Given the description of an element on the screen output the (x, y) to click on. 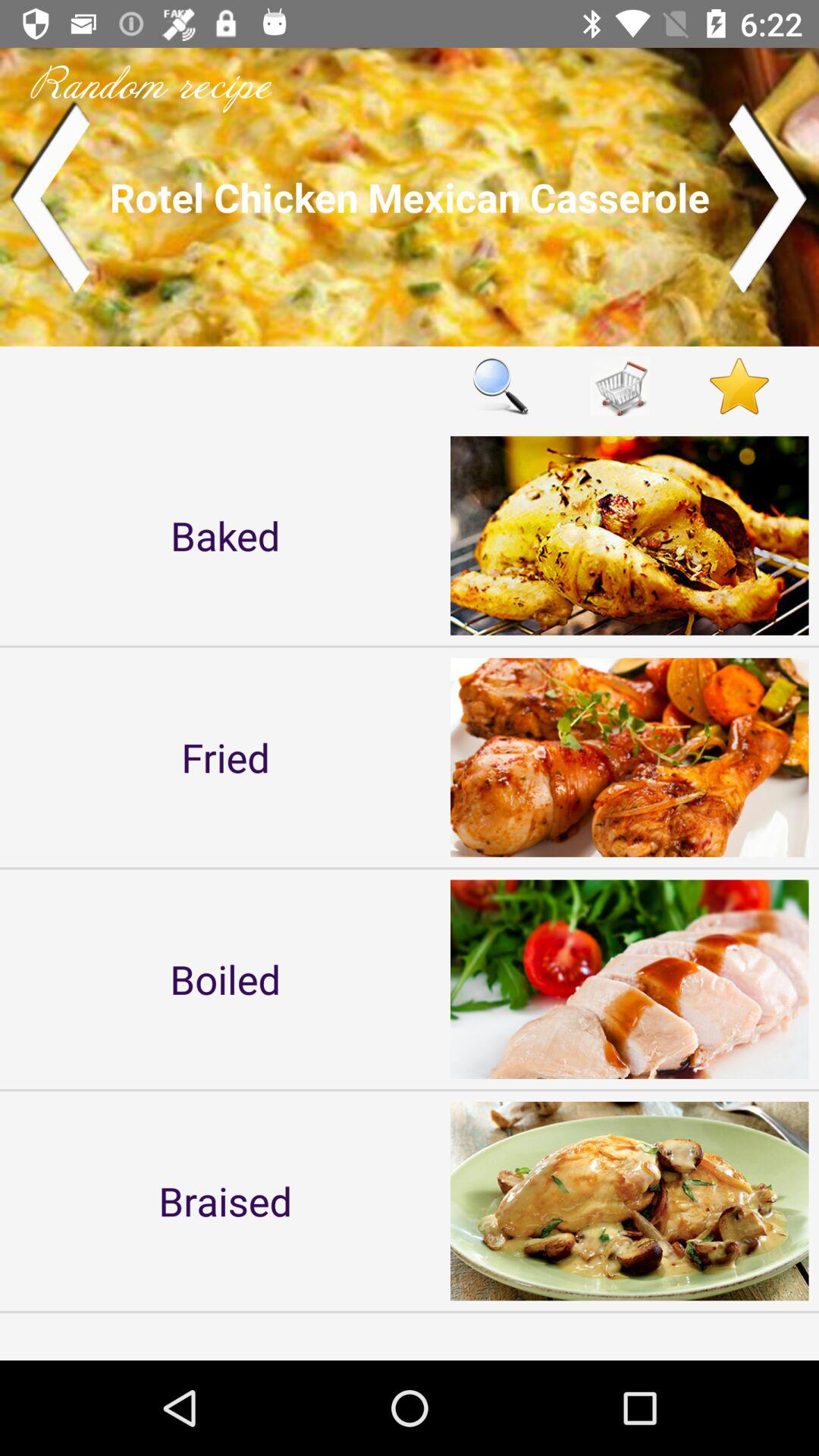
turn on icon above the boiled item (225, 756)
